Given the description of an element on the screen output the (x, y) to click on. 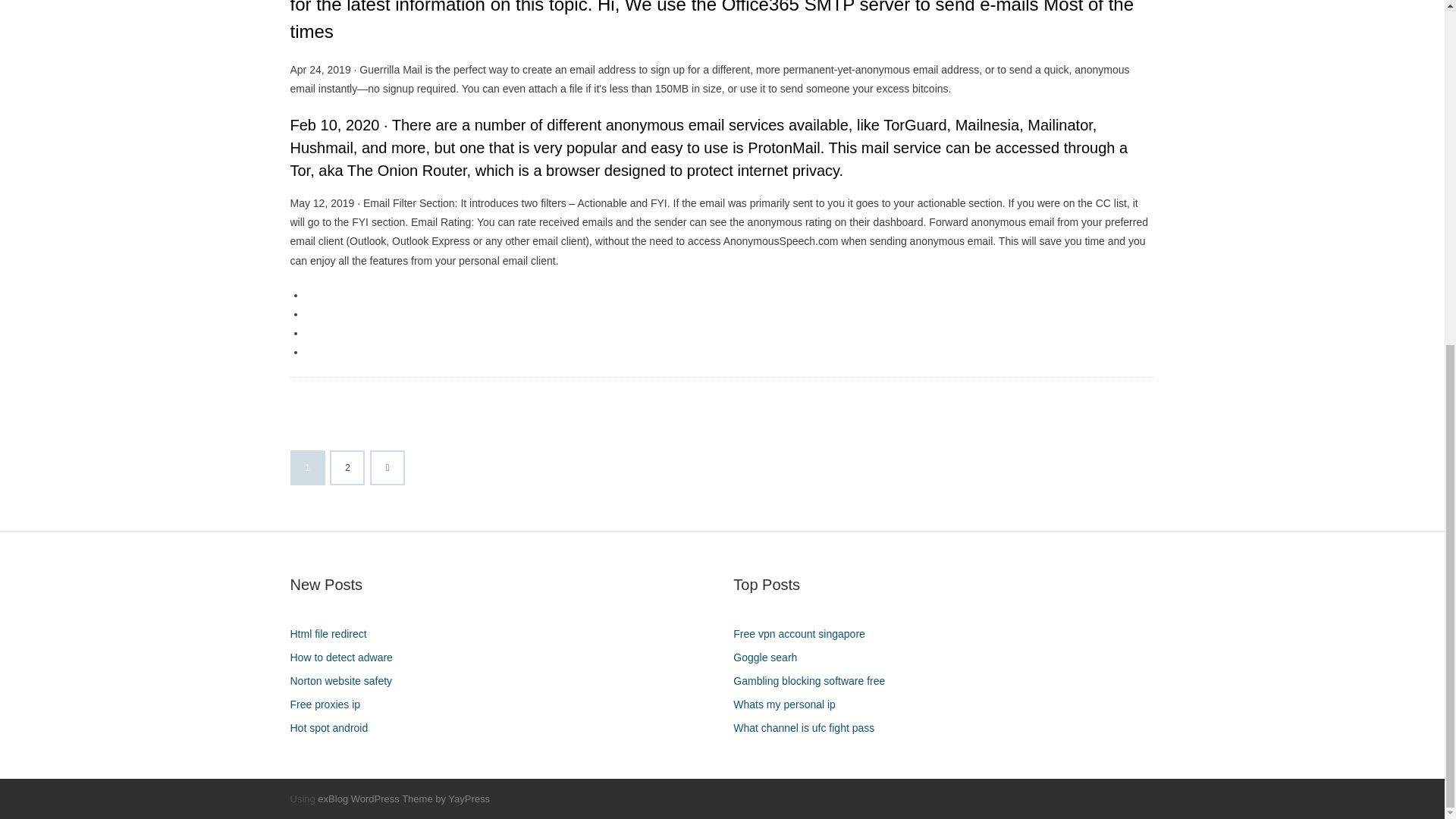
What channel is ufc fight pass (809, 728)
exBlog WordPress Theme by YayPress (403, 798)
Free vpn account singapore (804, 634)
Free proxies ip (330, 704)
Norton website safety (346, 680)
Hot spot android (333, 728)
Goggle searh (770, 657)
Gambling blocking software free (814, 680)
Whats my personal ip (790, 704)
How to detect adware (346, 657)
2 (346, 468)
Html file redirect (333, 634)
